Given the description of an element on the screen output the (x, y) to click on. 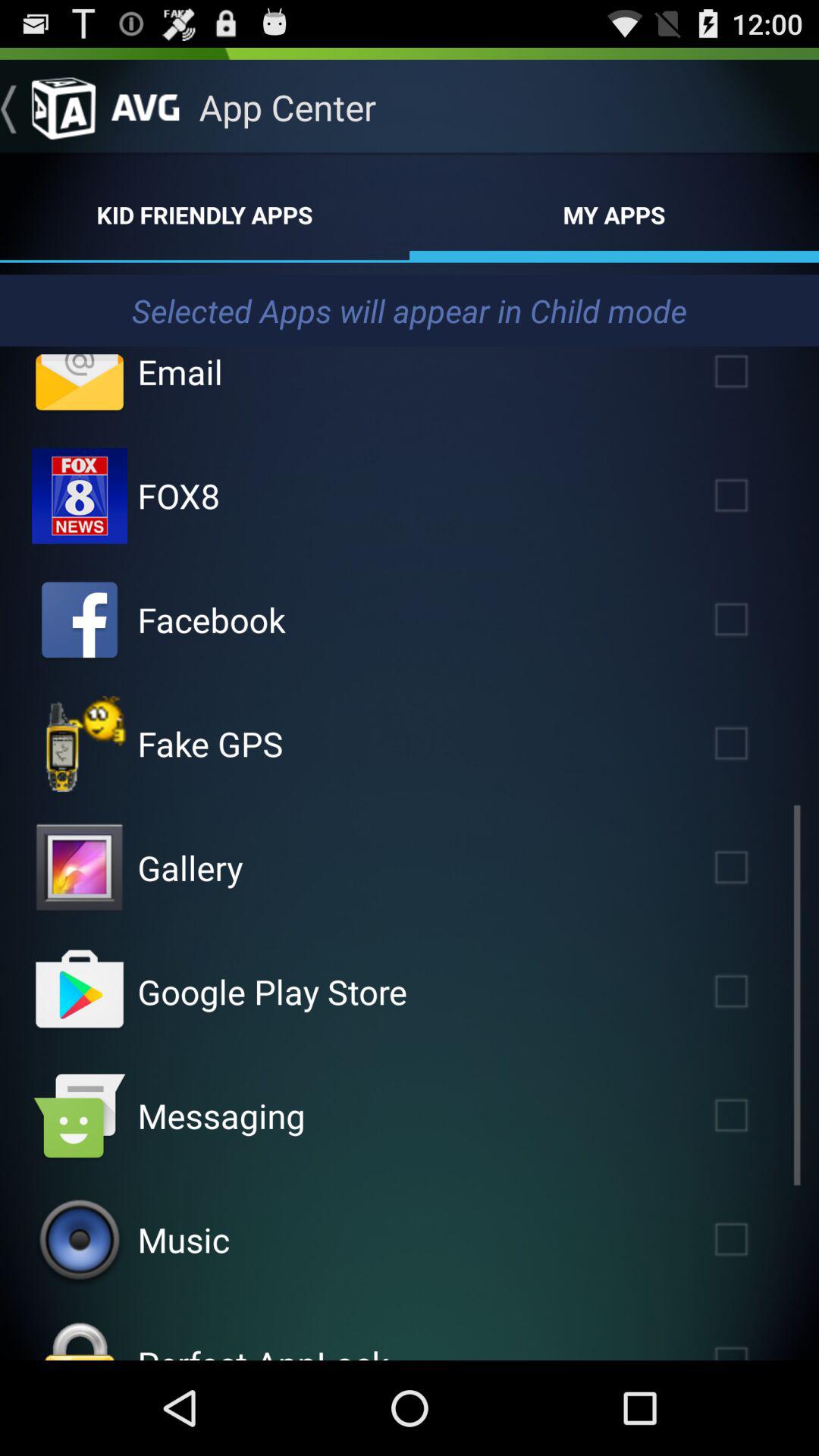
go to previous screen (47, 107)
